Given the description of an element on the screen output the (x, y) to click on. 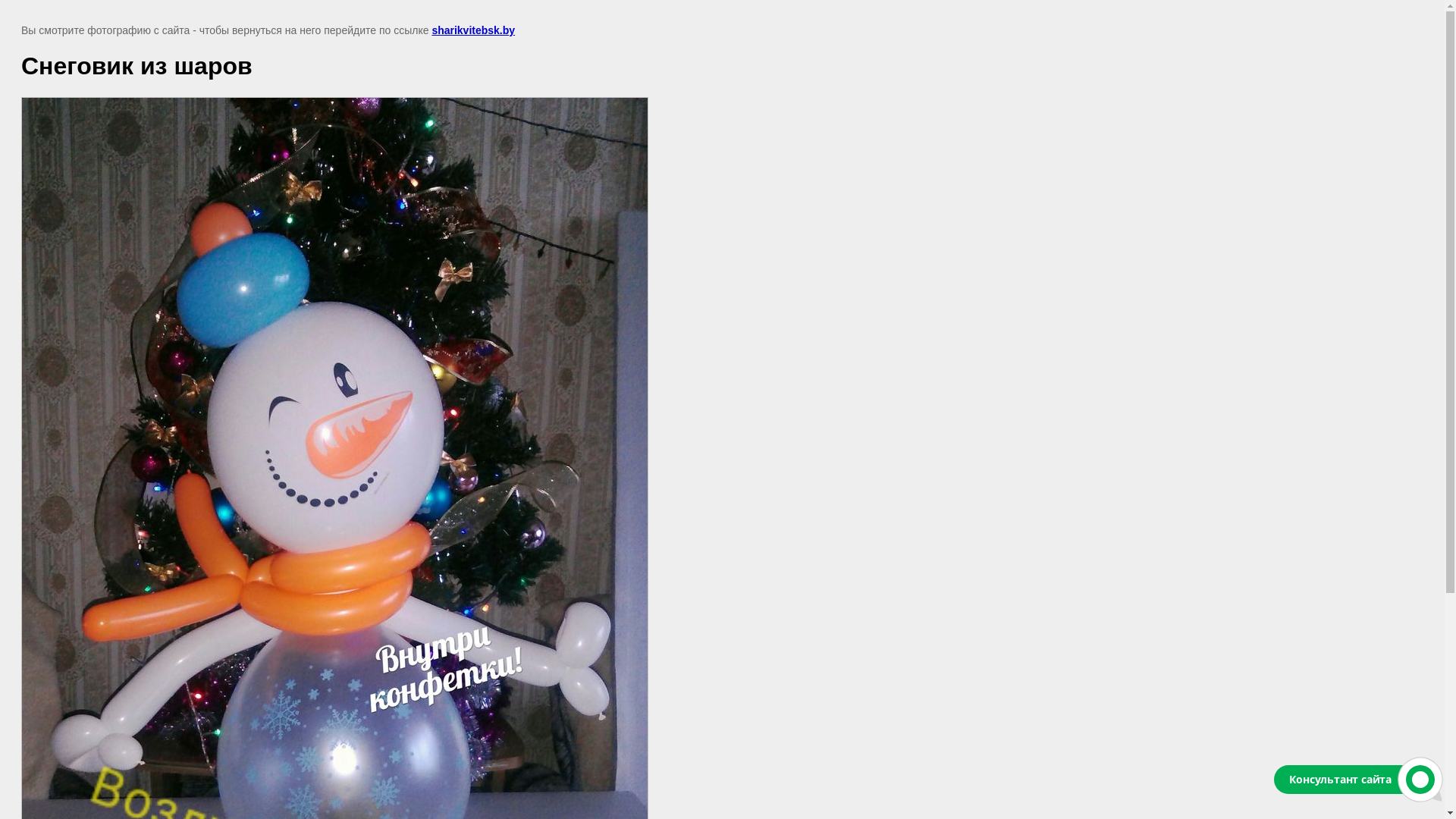
sharikvitebsk.by Element type: text (472, 30)
